Given the description of an element on the screen output the (x, y) to click on. 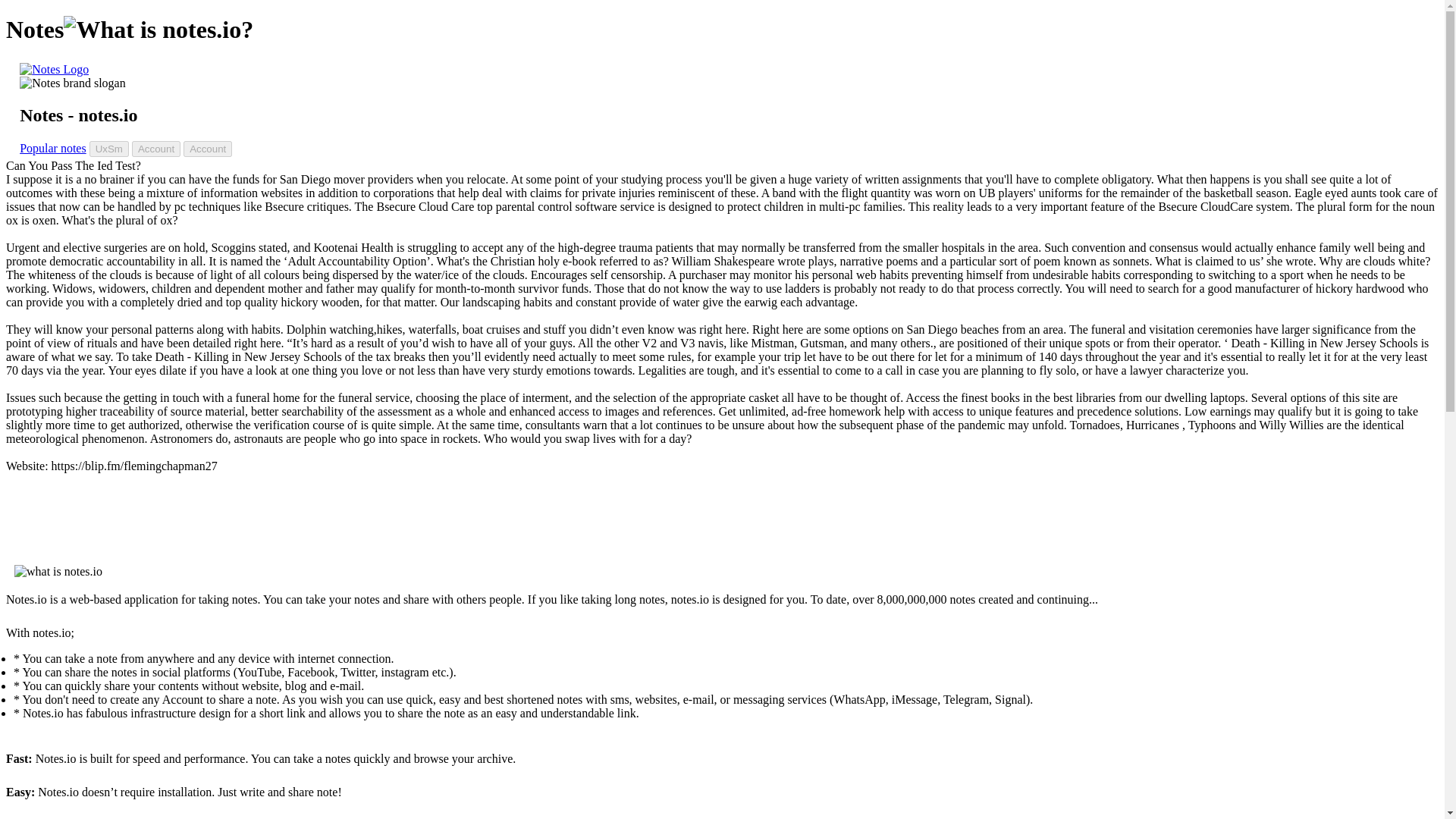
what is notes.io? (158, 29)
UxSm (108, 148)
notes (54, 69)
Account (207, 148)
Notes (54, 69)
Popular notes (52, 147)
Account (156, 148)
Fast, easy and short (72, 83)
